Given the description of an element on the screen output the (x, y) to click on. 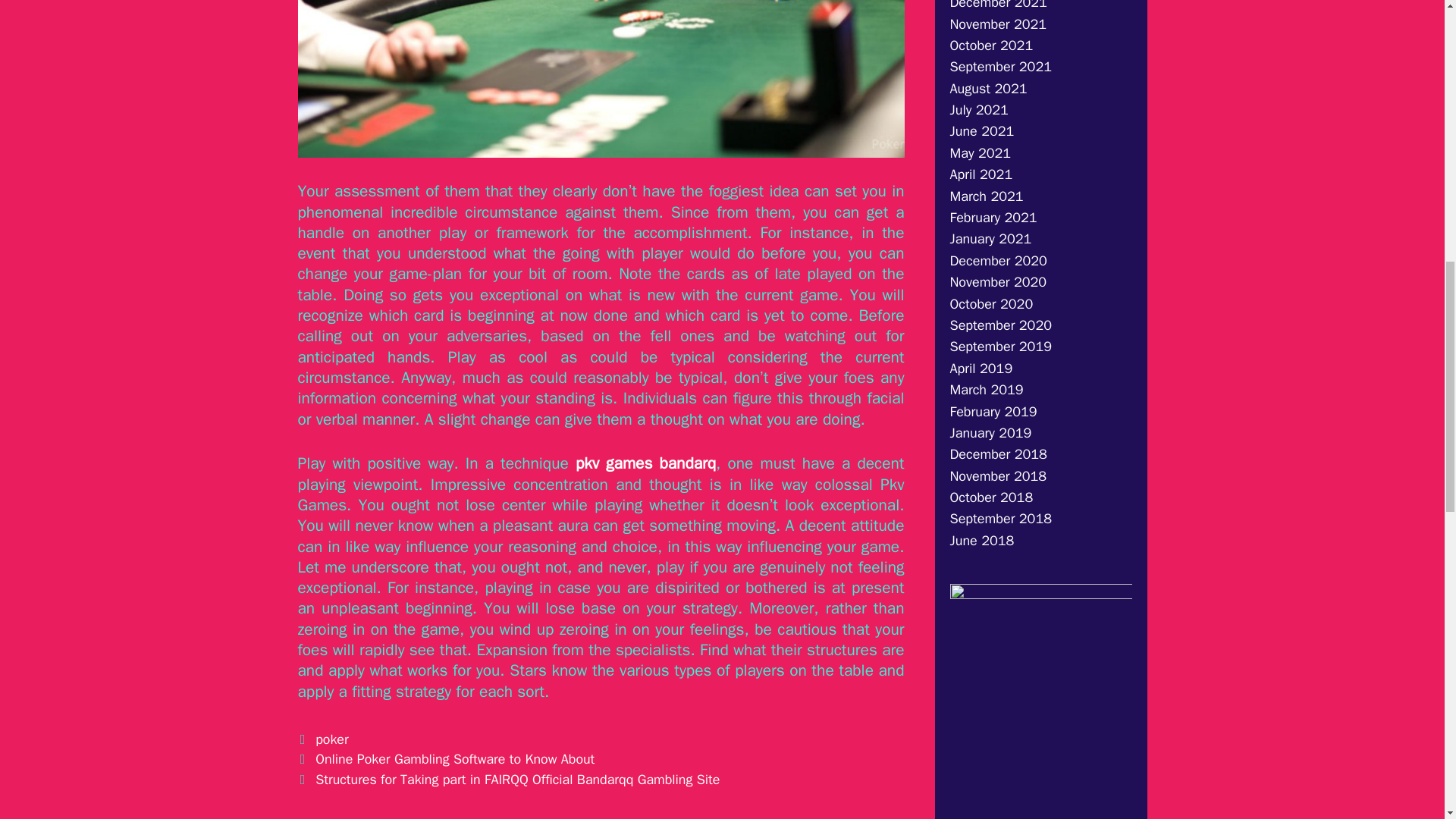
pkv games bandarq (645, 463)
poker (331, 739)
Previous (445, 759)
Online Poker Gambling Software to Know About (454, 759)
Next (508, 779)
